Given the description of an element on the screen output the (x, y) to click on. 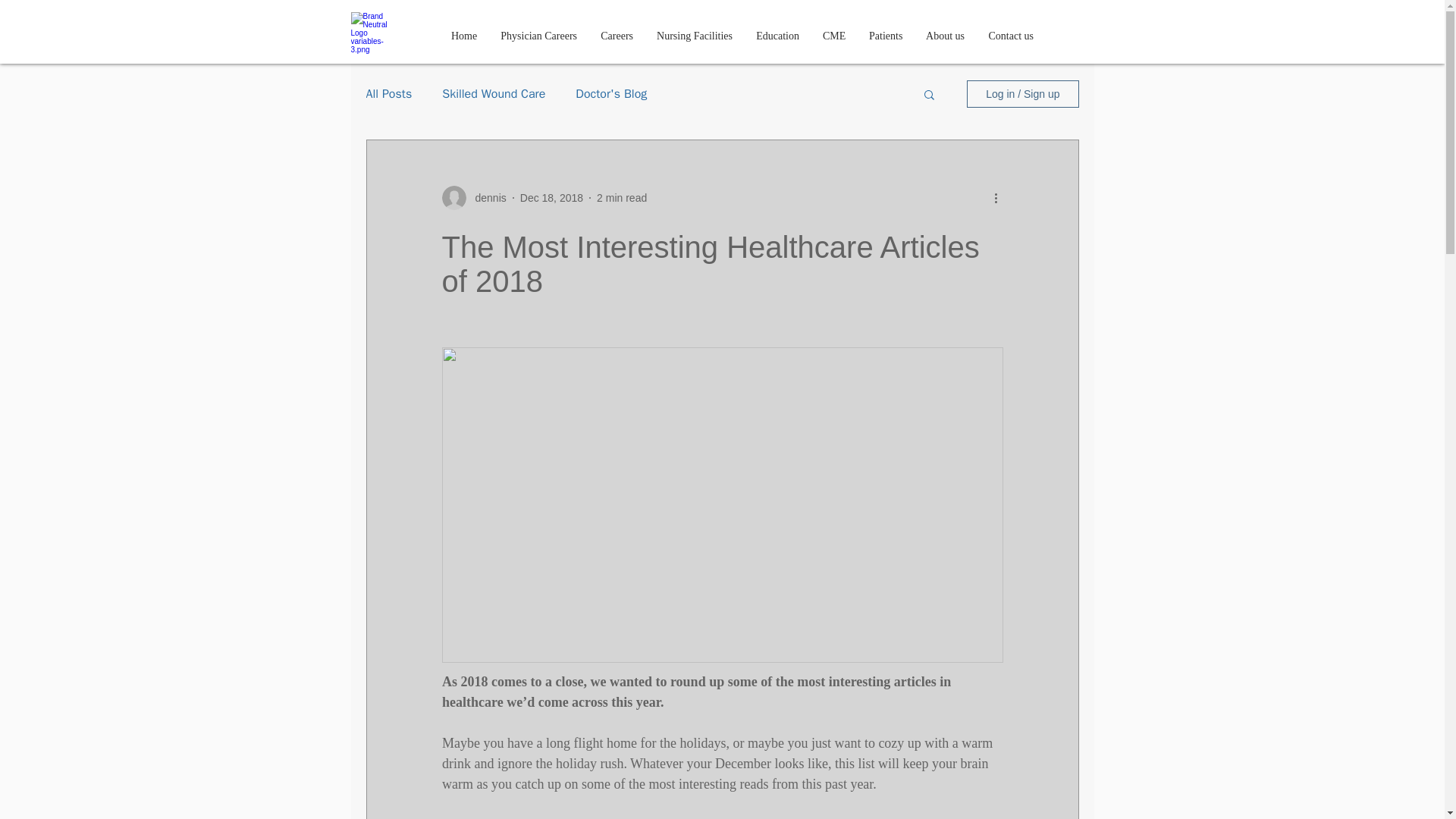
Nursing Facilities (694, 35)
CME (833, 35)
About us (944, 35)
dennis (473, 197)
Careers (617, 35)
Patients (885, 35)
Dec 18, 2018 (551, 196)
Home (463, 35)
Physician Careers (538, 35)
dennis (485, 197)
Education (777, 35)
2 min read (621, 196)
All Posts (388, 94)
Contact us (1010, 35)
Doctor's Blog (610, 94)
